Given the description of an element on the screen output the (x, y) to click on. 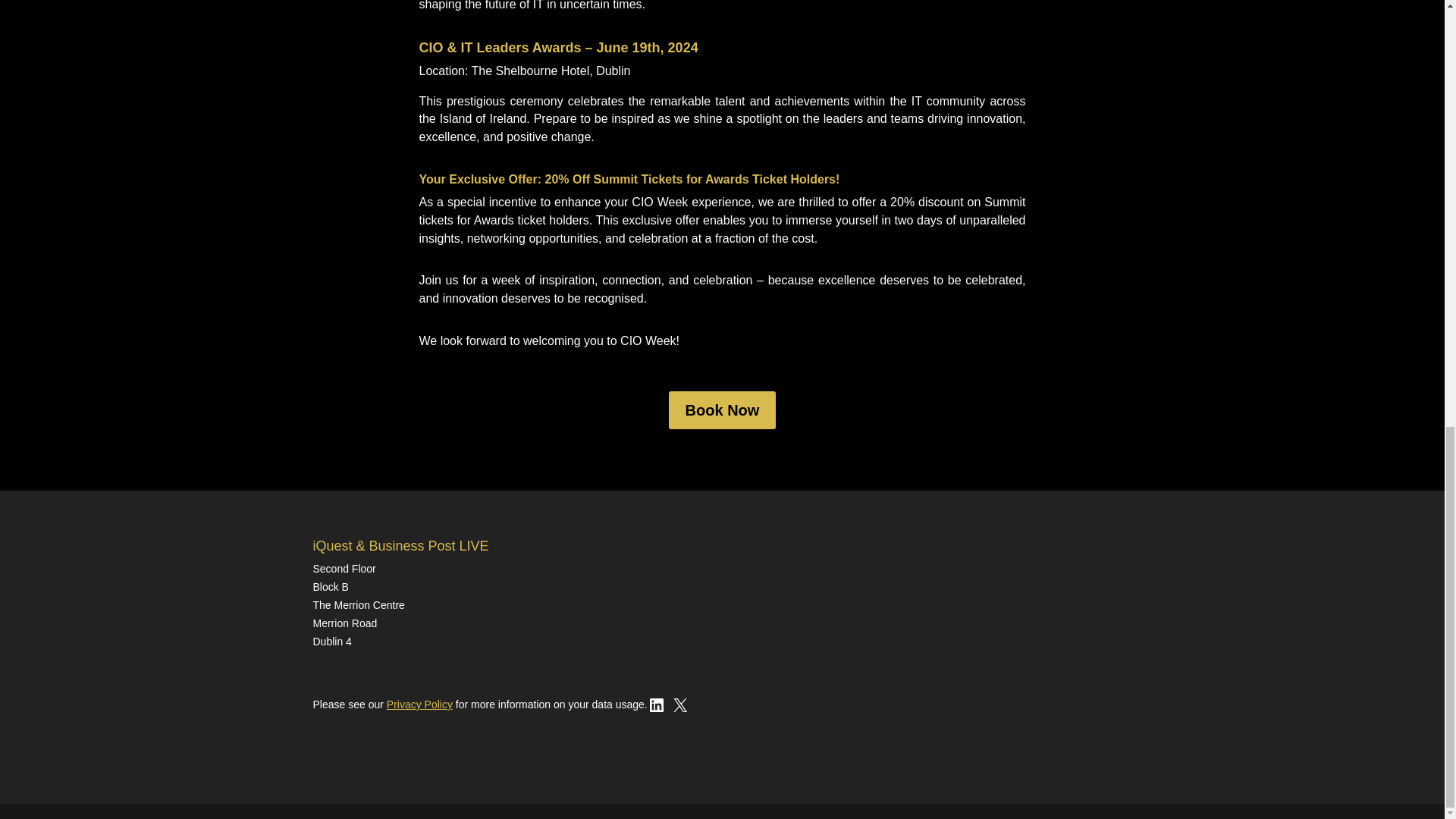
Book Now (722, 410)
Privacy Policy (419, 704)
LinkedIn (656, 710)
X (679, 710)
